Given the description of an element on the screen output the (x, y) to click on. 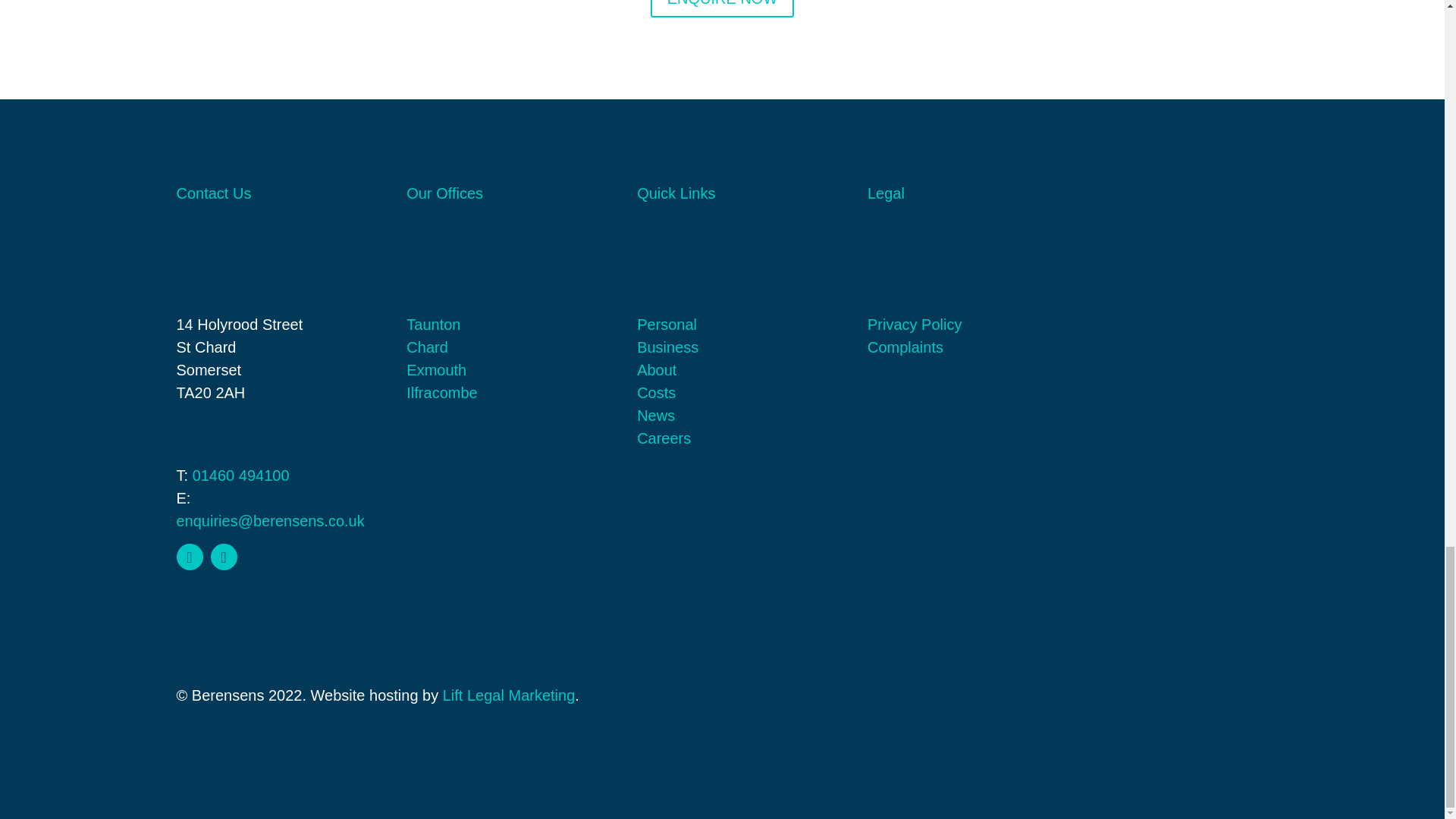
Business (667, 347)
About (657, 369)
Personal (667, 324)
Chard (426, 347)
News (656, 415)
Ilfracombe (441, 392)
Exmouth (435, 369)
Costs (656, 392)
Lift Legal Marketing (508, 695)
01460 494100 (240, 475)
